Given the description of an element on the screen output the (x, y) to click on. 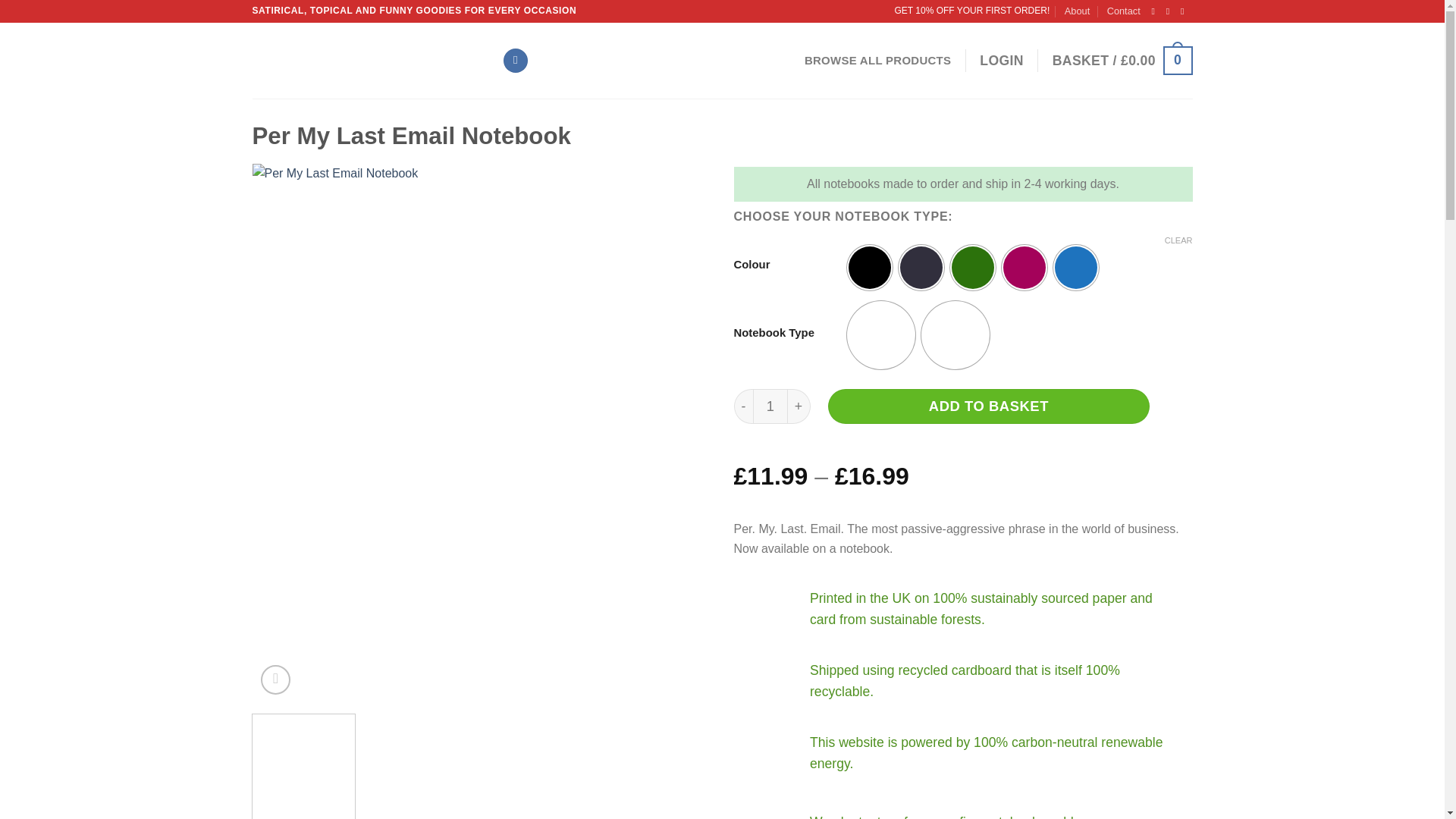
Basket (1122, 60)
Zoom (274, 679)
CLEAR (1178, 240)
Contact (1123, 11)
BROWSE ALL PRODUCTS (877, 60)
LOGIN (1001, 60)
1 (769, 406)
NewsThump Store - Satirical t-shirts and tees (365, 59)
ADD TO BASKET (989, 406)
About (1076, 11)
